Given the description of an element on the screen output the (x, y) to click on. 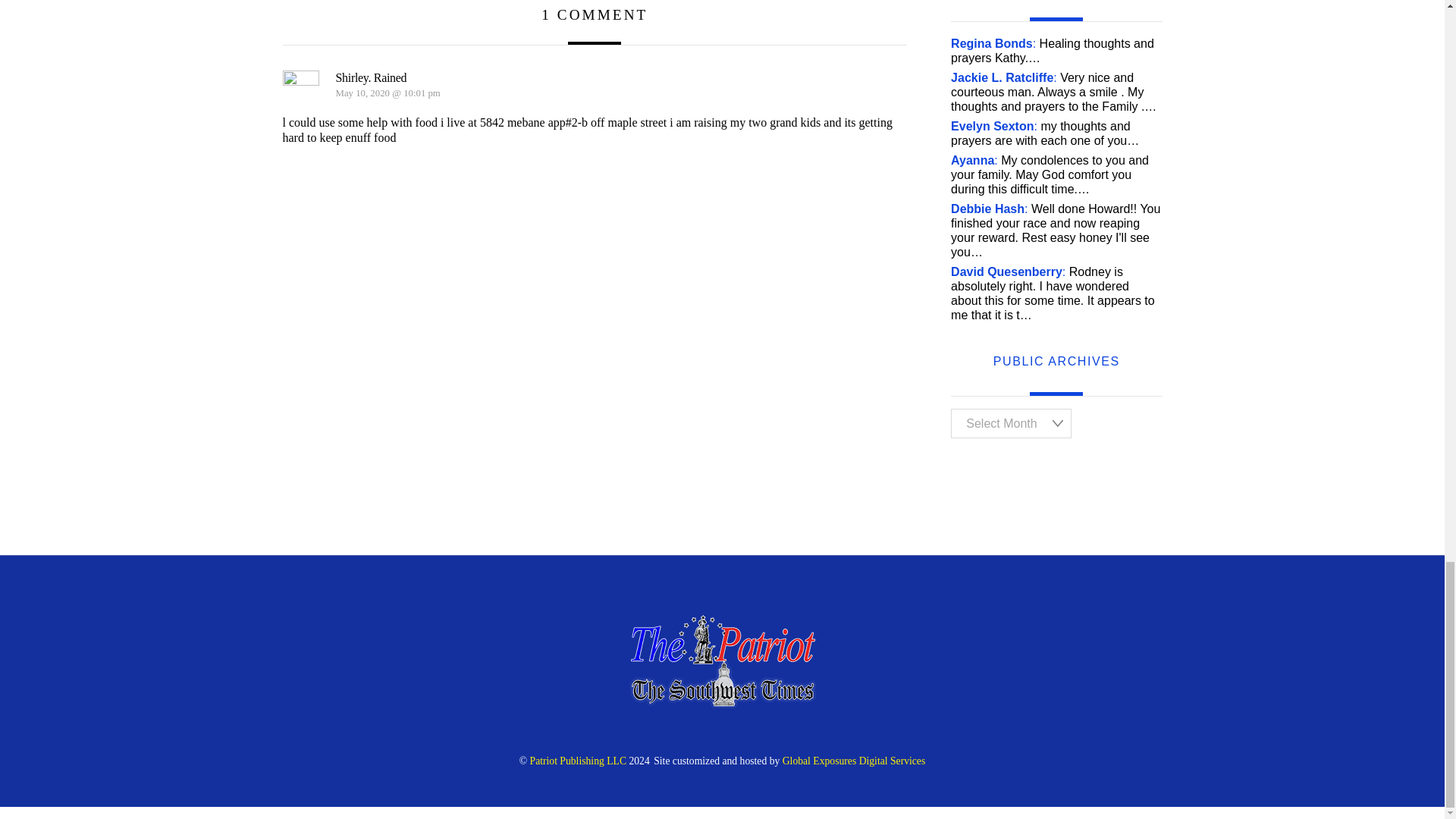
Jackie L. Ratcliffe: (1003, 77)
Global Exposures Digital Services (854, 760)
Ayanna: (973, 160)
Patriot Publishing LLC (577, 760)
Patriot Publishing LLC (721, 702)
David Quesenberry: (1007, 271)
Regina Bonds: (992, 42)
Evelyn Sexton: (993, 125)
Debbie Hash: (988, 208)
